Given the description of an element on the screen output the (x, y) to click on. 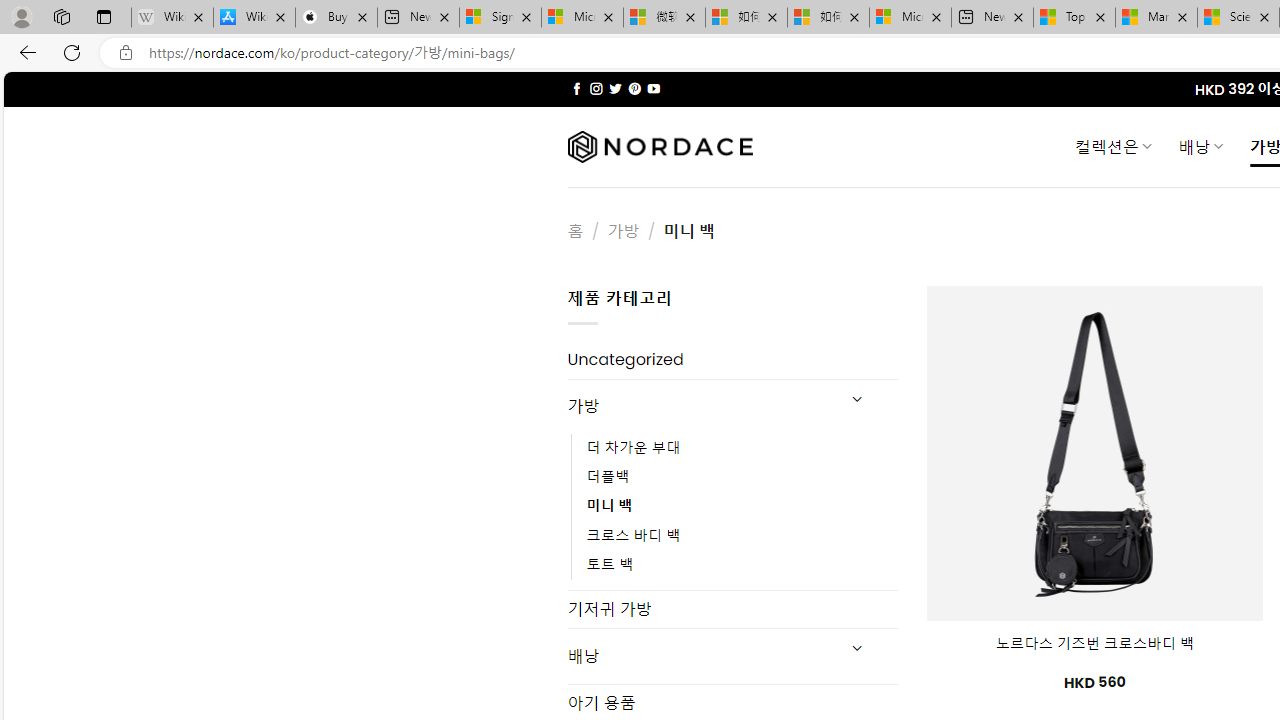
Microsoft account | Account Checkup (910, 17)
Marine life - MSN (1156, 17)
